Given the description of an element on the screen output the (x, y) to click on. 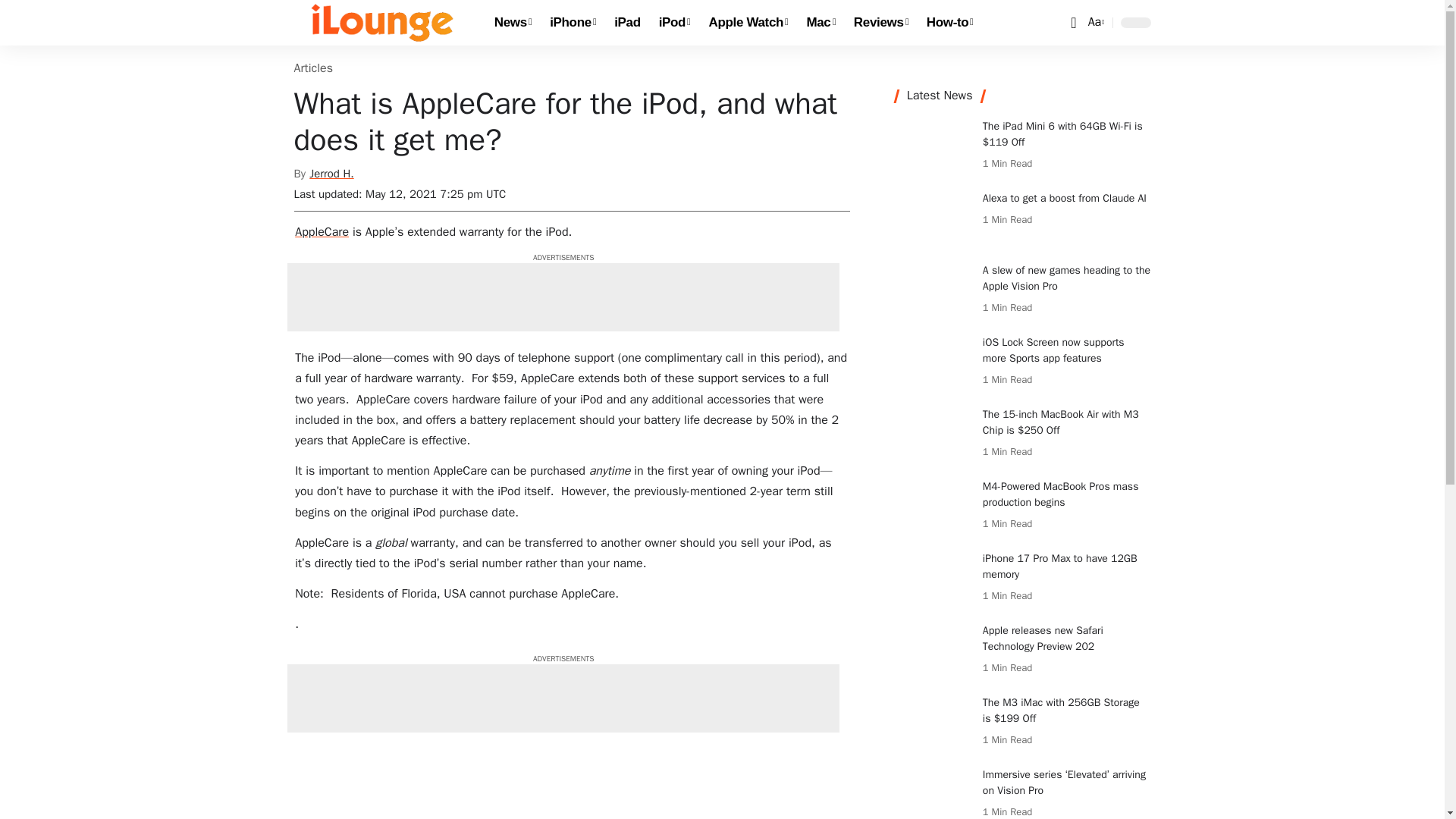
News (1094, 22)
iOS Lock Screen now supports more Sports app features (512, 22)
Reviews (933, 362)
How-to (880, 22)
Alexa to get a boost from Claude AI (949, 22)
iPad (933, 218)
A slew of new games heading to the Apple Vision Pro (627, 22)
iPod (933, 290)
iPhone 17 Pro Max to have 12GB memory (674, 22)
